Given the description of an element on the screen output the (x, y) to click on. 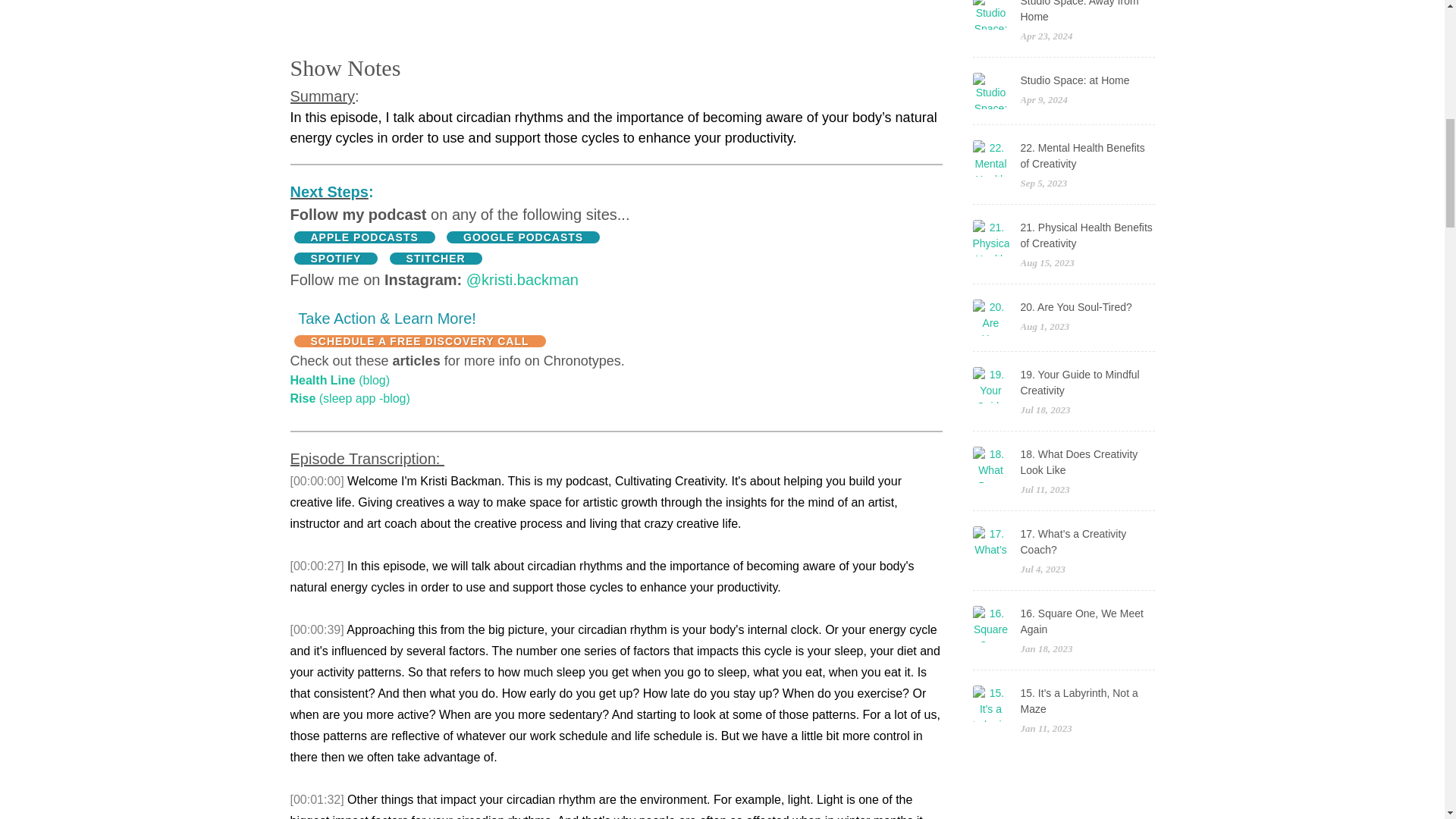
SCHEDULE A FREE DISCOVERY CALL (420, 340)
SPOTIFY (336, 258)
STITCHER (435, 258)
Embed Player (615, 22)
APPLE PODCASTS (364, 236)
GOOGLE PODCASTS (522, 236)
